Given the description of an element on the screen output the (x, y) to click on. 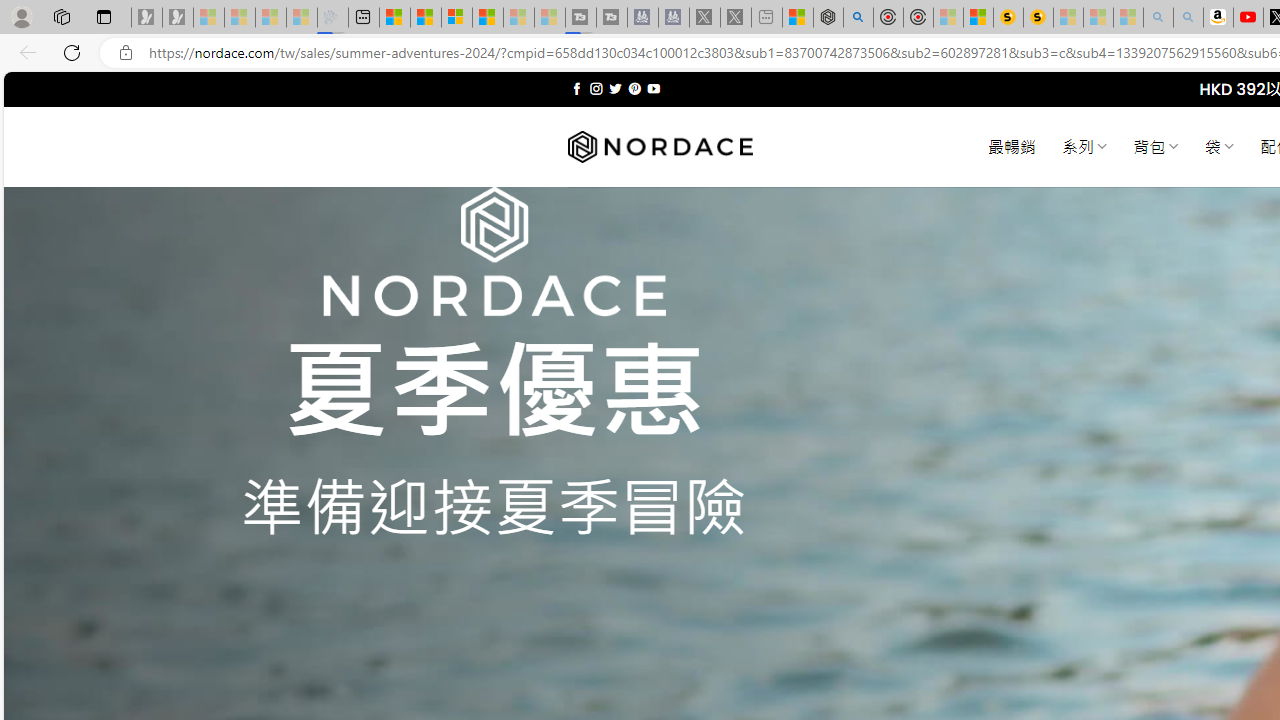
Newsletter Sign Up - Sleeping (177, 17)
